Given the description of an element on the screen output the (x, y) to click on. 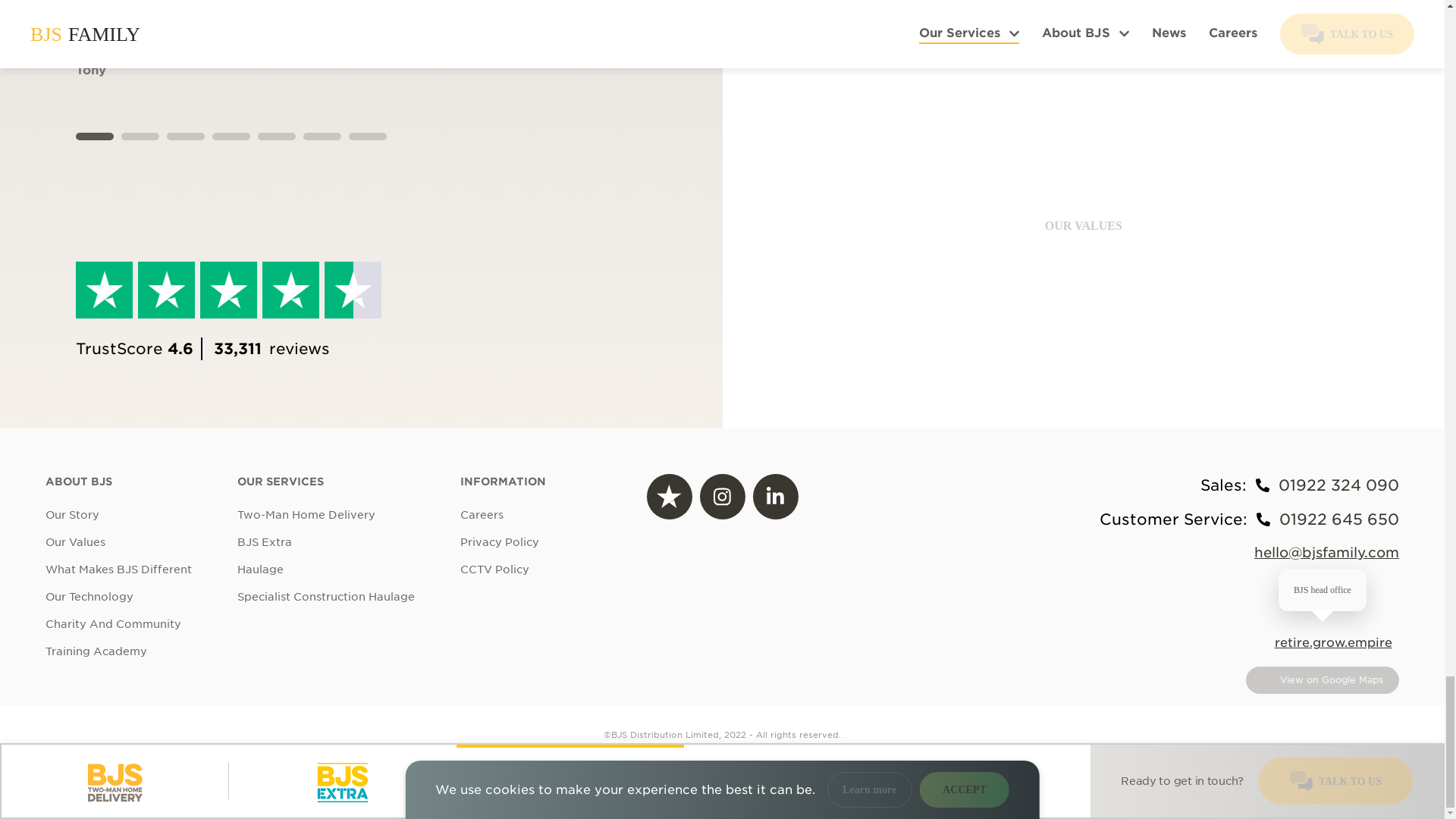
01922 324 090 (1338, 484)
View on Google Maps (1322, 679)
OUR VALUES (1083, 225)
01922 645 650 (1339, 519)
View on Google Maps (1322, 679)
retire.grow.empire (1332, 642)
